Given the description of an element on the screen output the (x, y) to click on. 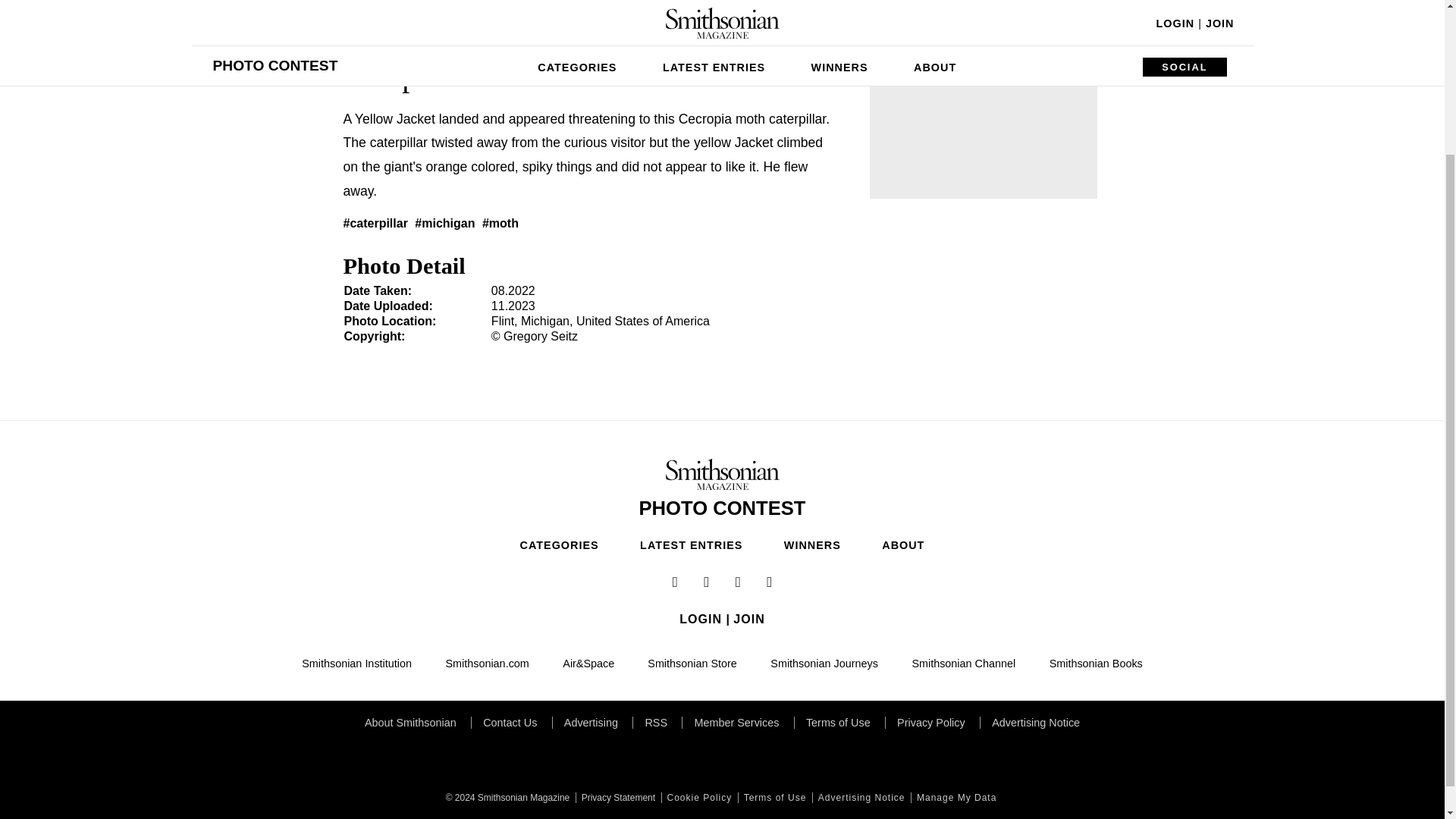
Cookie Policy (698, 797)
Manage My Data (954, 797)
Terms of Use (773, 797)
Privacy Statement (616, 797)
Advertising Notice (859, 797)
